Given the description of an element on the screen output the (x, y) to click on. 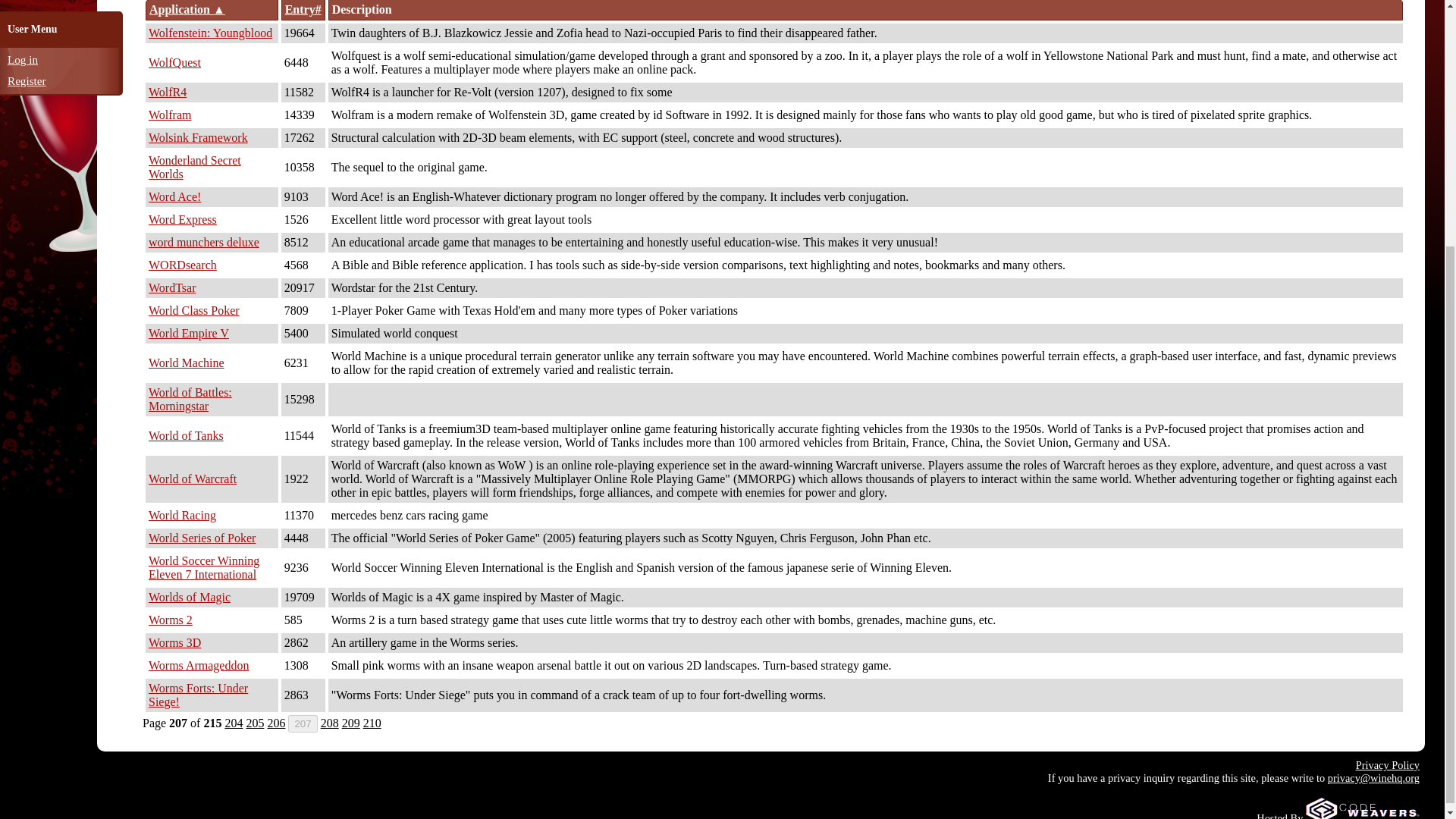
WolfQuest (174, 62)
Wolsink Framework (197, 137)
Wonderland Secret Worlds (194, 166)
Register (26, 80)
WolfR4 (167, 91)
Wolfram (169, 114)
Wolfenstein: Youngblood (210, 32)
Log in (22, 59)
